Given the description of an element on the screen output the (x, y) to click on. 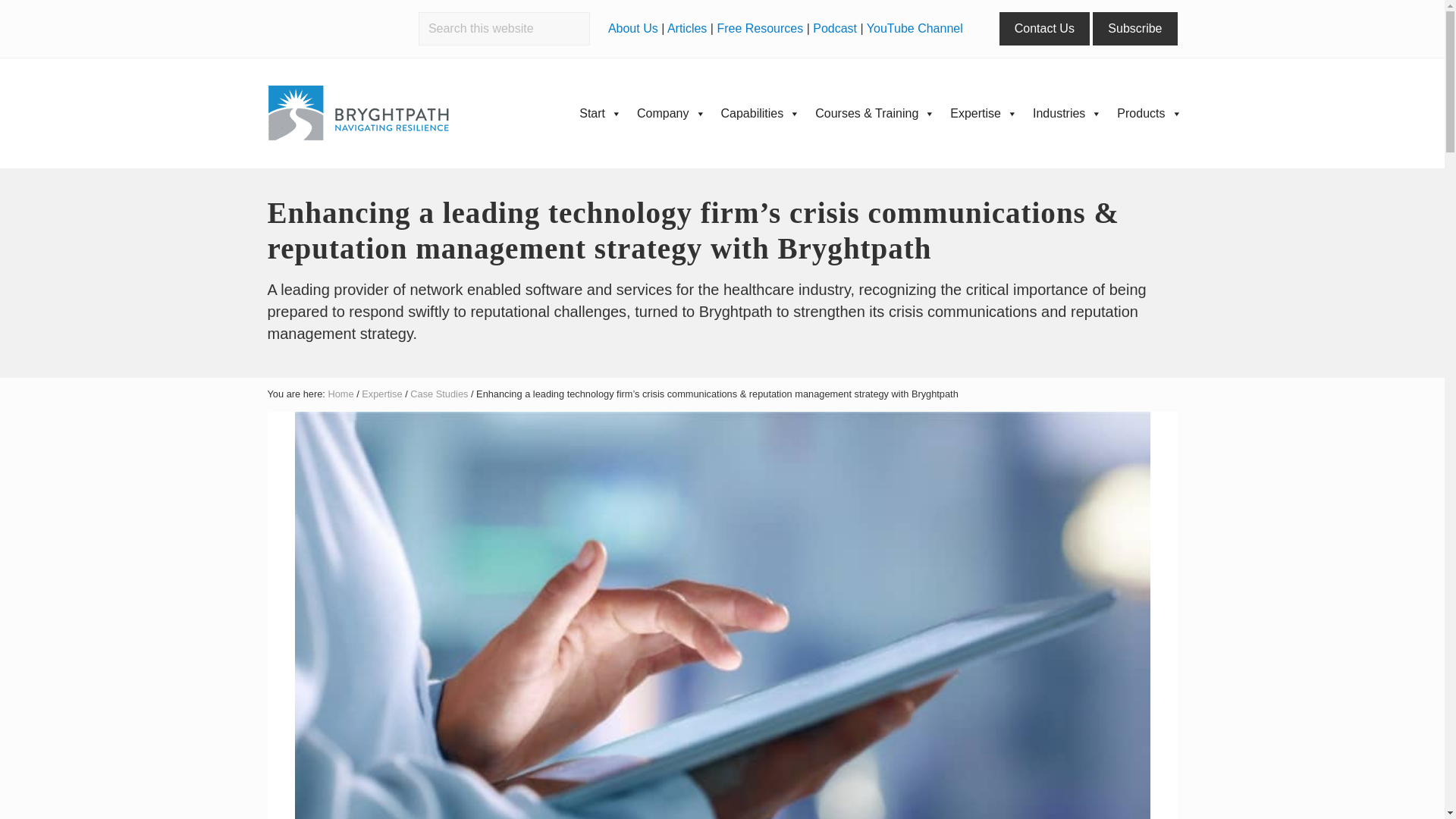
Free Resources (759, 28)
Capabilities (760, 113)
Articles (686, 28)
Subscribe (1134, 28)
YouTube Channel (914, 28)
Contact Us (1043, 28)
About Us (633, 28)
Company (670, 113)
Start (600, 113)
Podcast (834, 28)
